Given the description of an element on the screen output the (x, y) to click on. 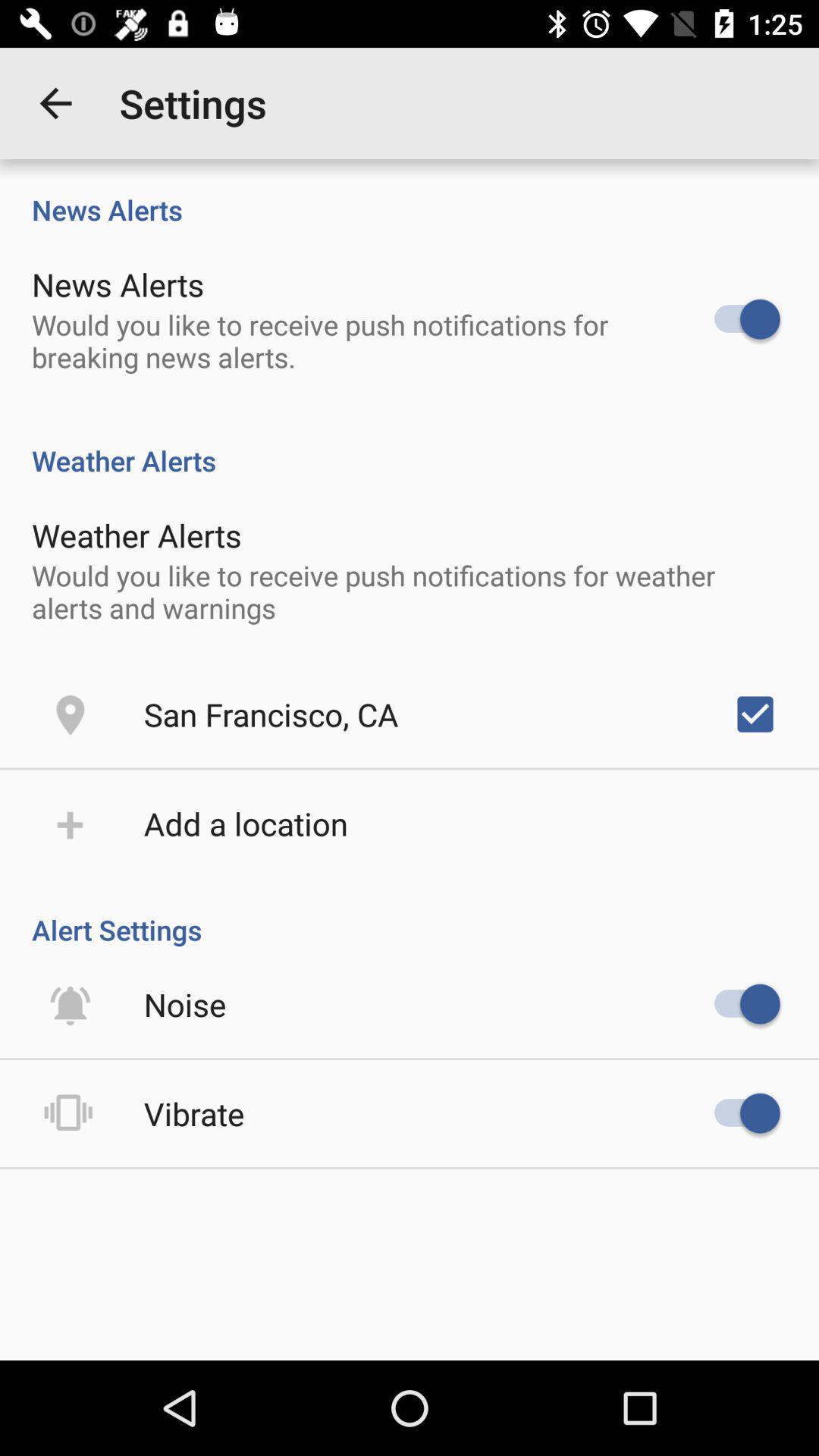
turn off item above alert settings (755, 714)
